Given the description of an element on the screen output the (x, y) to click on. 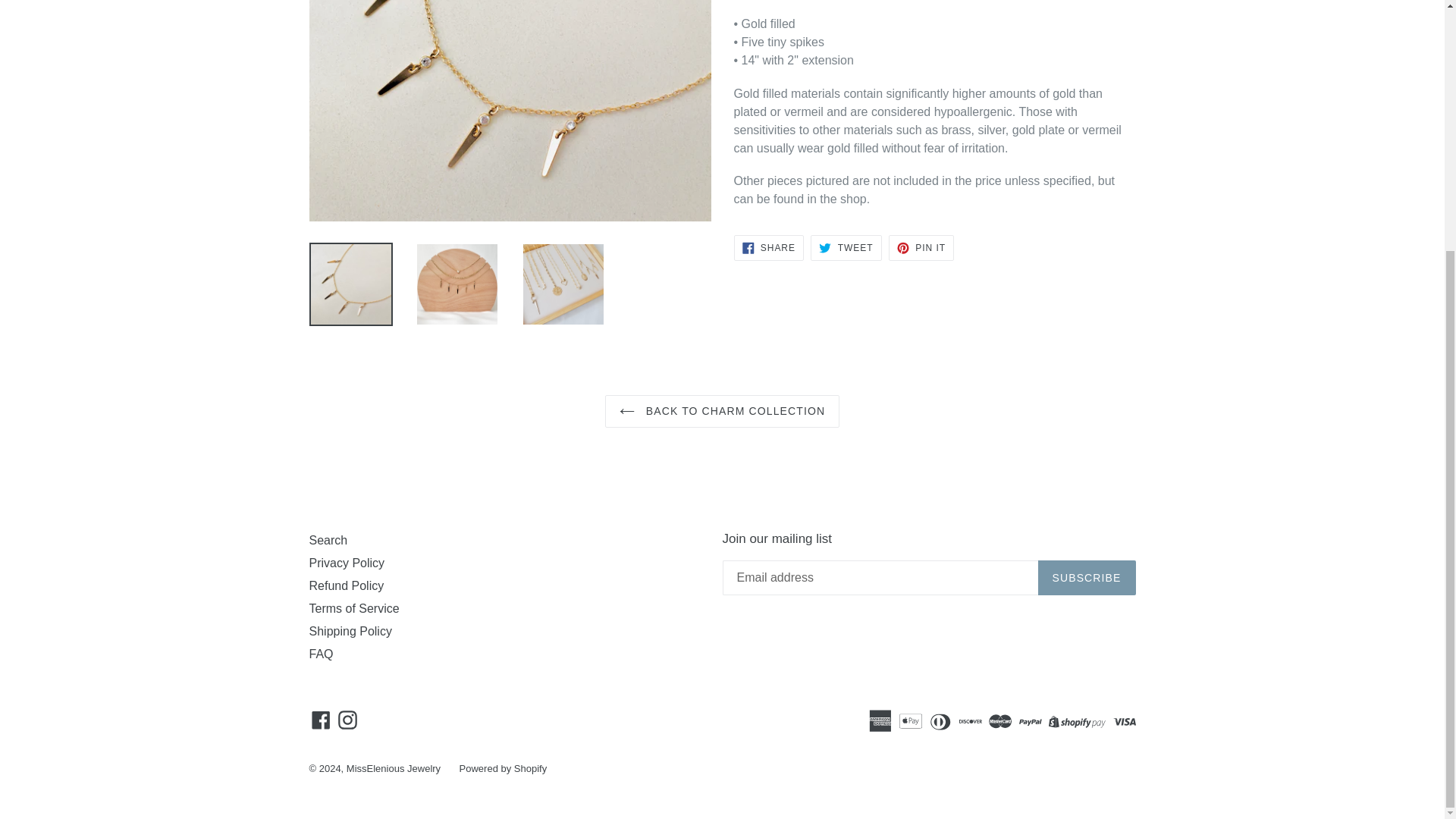
Share on Facebook (768, 248)
MissElenious Jewelry on Facebook (320, 719)
MissElenious Jewelry on Instagram (347, 719)
Pin on Pinterest (920, 248)
Tweet on Twitter (845, 248)
